Given the description of an element on the screen output the (x, y) to click on. 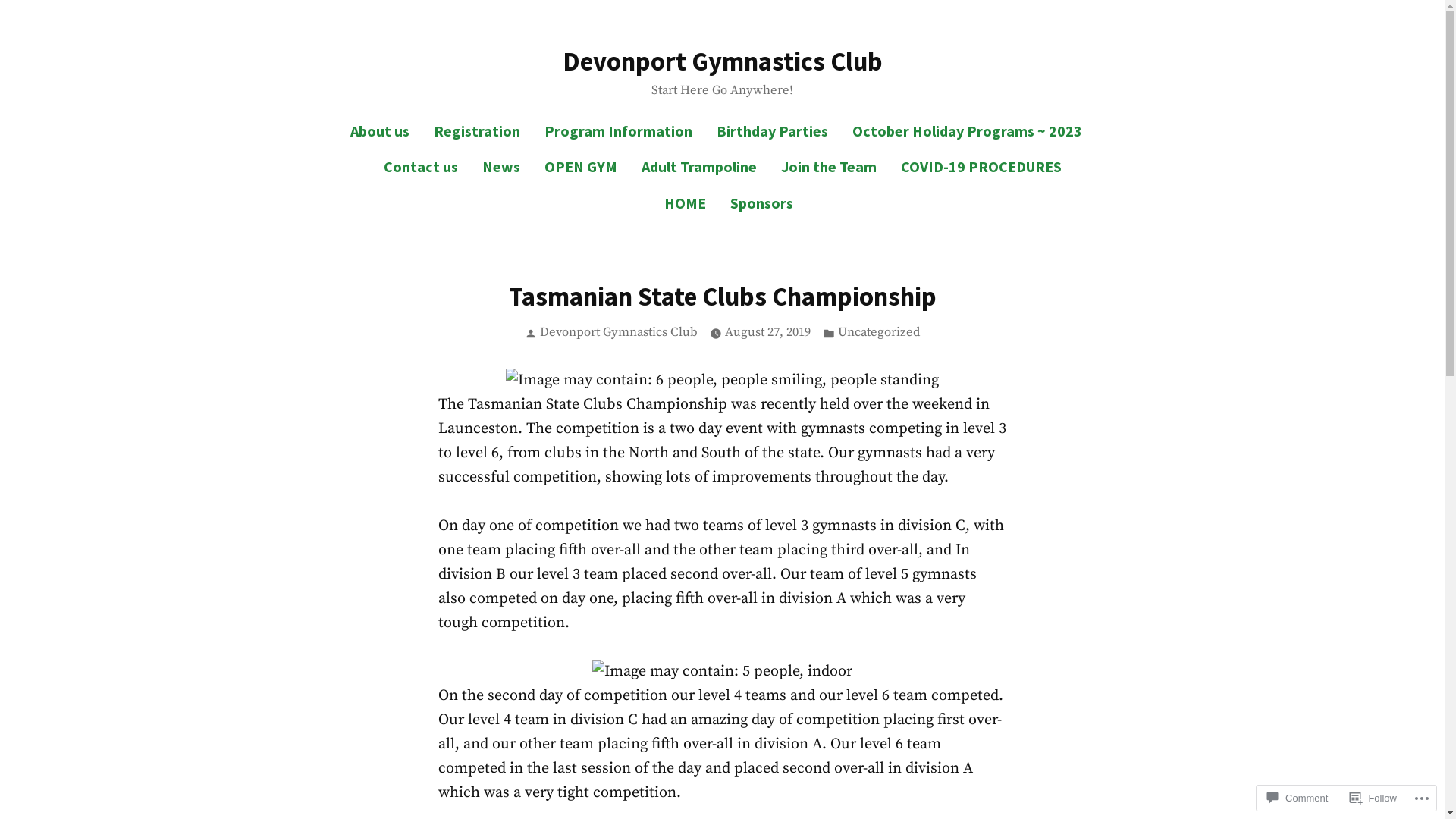
Birthday Parties Element type: text (772, 130)
Program Information Element type: text (618, 130)
Adult Trampoline Element type: text (698, 167)
Sponsors Element type: text (754, 202)
News Element type: text (501, 167)
Registration Element type: text (476, 130)
About us Element type: text (385, 130)
COVID-19 PROCEDURES Element type: text (980, 167)
Follow Element type: text (1372, 797)
Devonport Gymnastics Club Element type: text (618, 332)
August 27, 2019 Element type: text (767, 333)
Devonport Gymnastics Club Element type: text (722, 60)
HOME Element type: text (685, 202)
Contact us Element type: text (420, 167)
Join the Team Element type: text (828, 167)
Uncategorized Element type: text (878, 333)
October Holiday Programs ~ 2023 Element type: text (967, 130)
OPEN GYM Element type: text (580, 167)
Comment Element type: text (1297, 797)
